Given the description of an element on the screen output the (x, y) to click on. 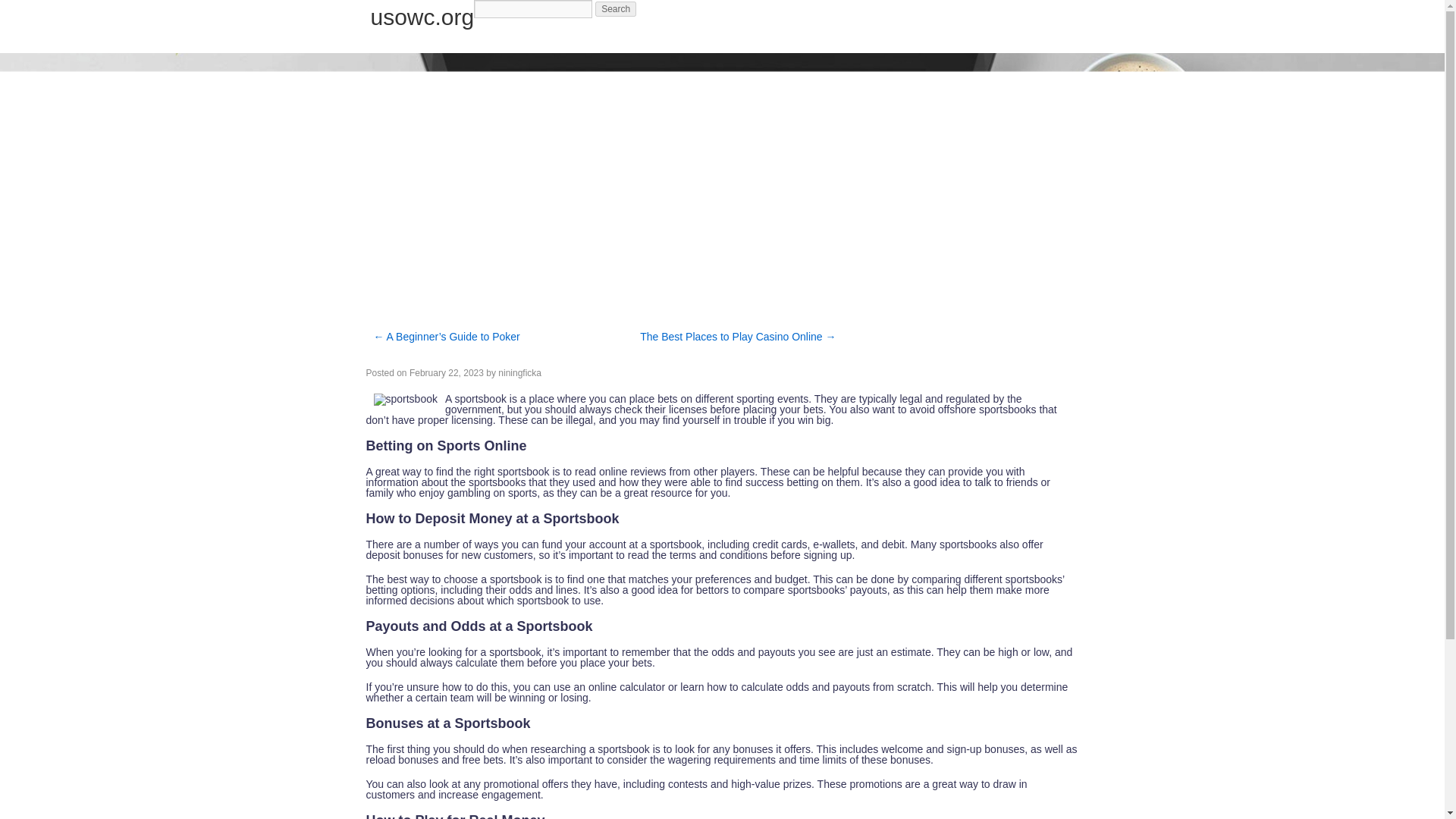
View all posts by niningficka (519, 372)
Search (615, 8)
February 22, 2023 (446, 372)
Search (615, 8)
usowc.org (421, 16)
8:19 am (446, 372)
niningficka (519, 372)
